Given the description of an element on the screen output the (x, y) to click on. 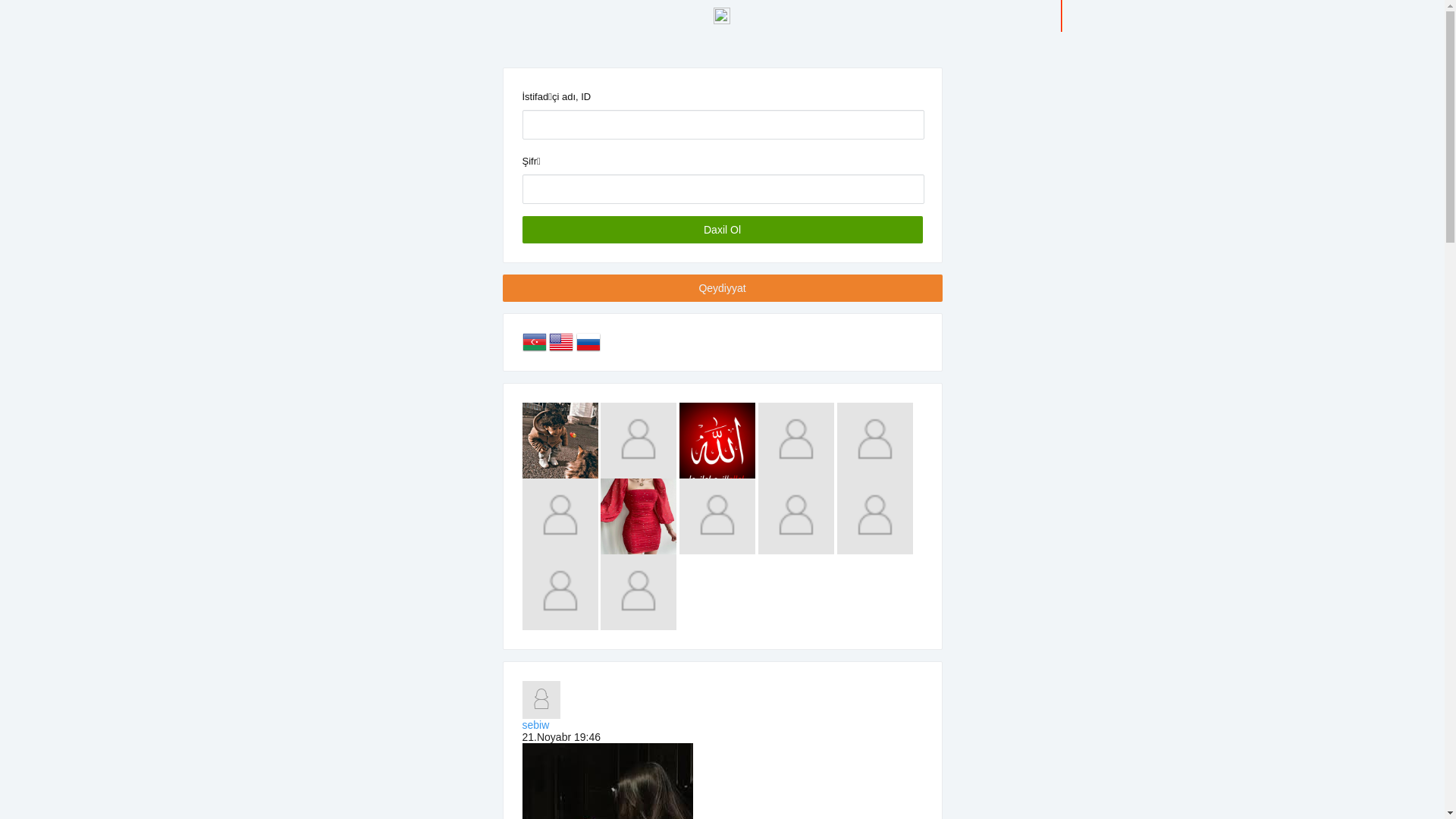
Daxil Ol Element type: text (721, 229)
Qeydiyyat Element type: text (721, 287)
sebiw Element type: text (535, 724)
